Given the description of an element on the screen output the (x, y) to click on. 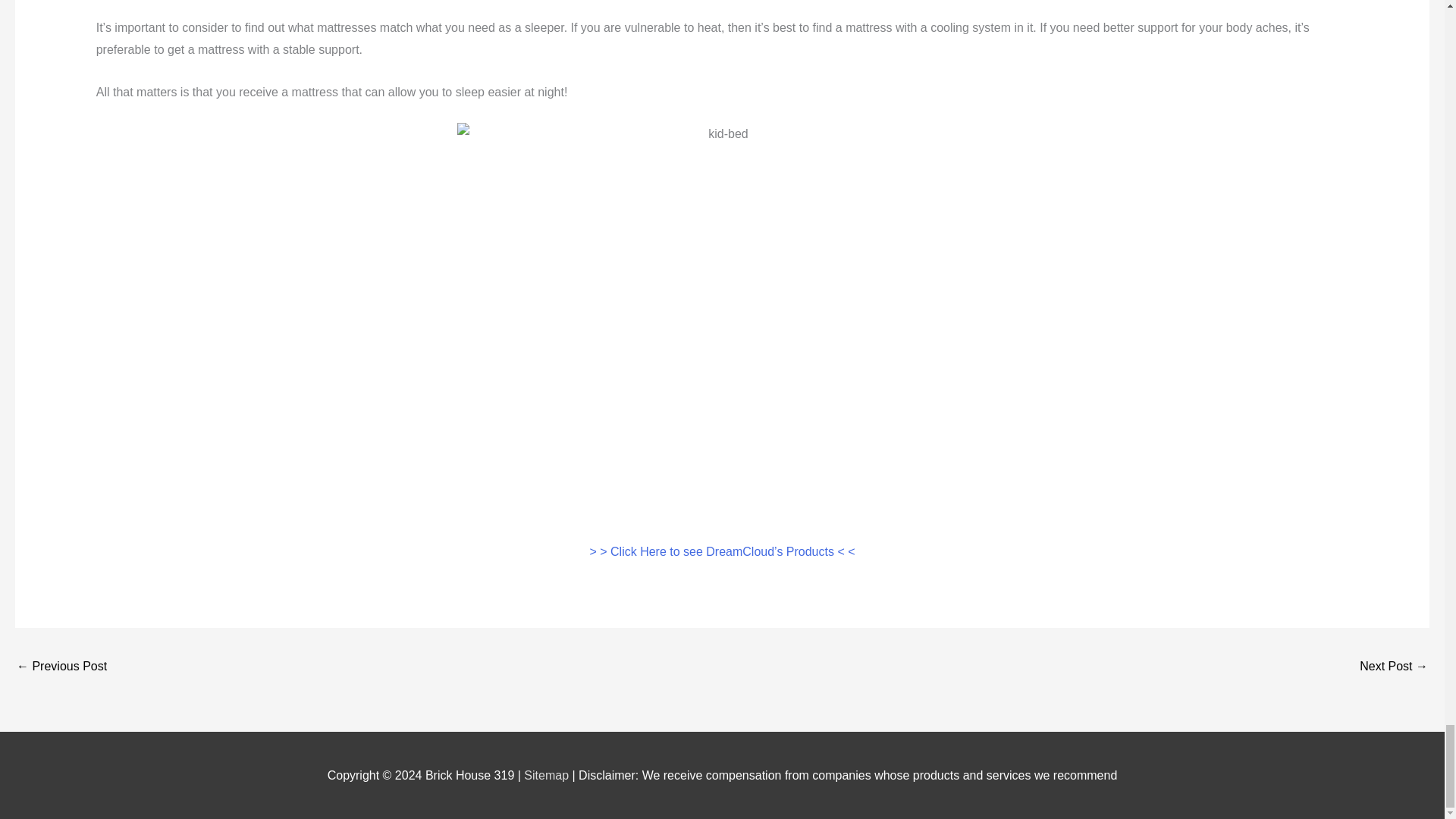
Dreamcloud Vs Brooklynbedding (61, 667)
Sitemap (548, 775)
Dreamcloud Mattress Near Me (1393, 667)
